Given the description of an element on the screen output the (x, y) to click on. 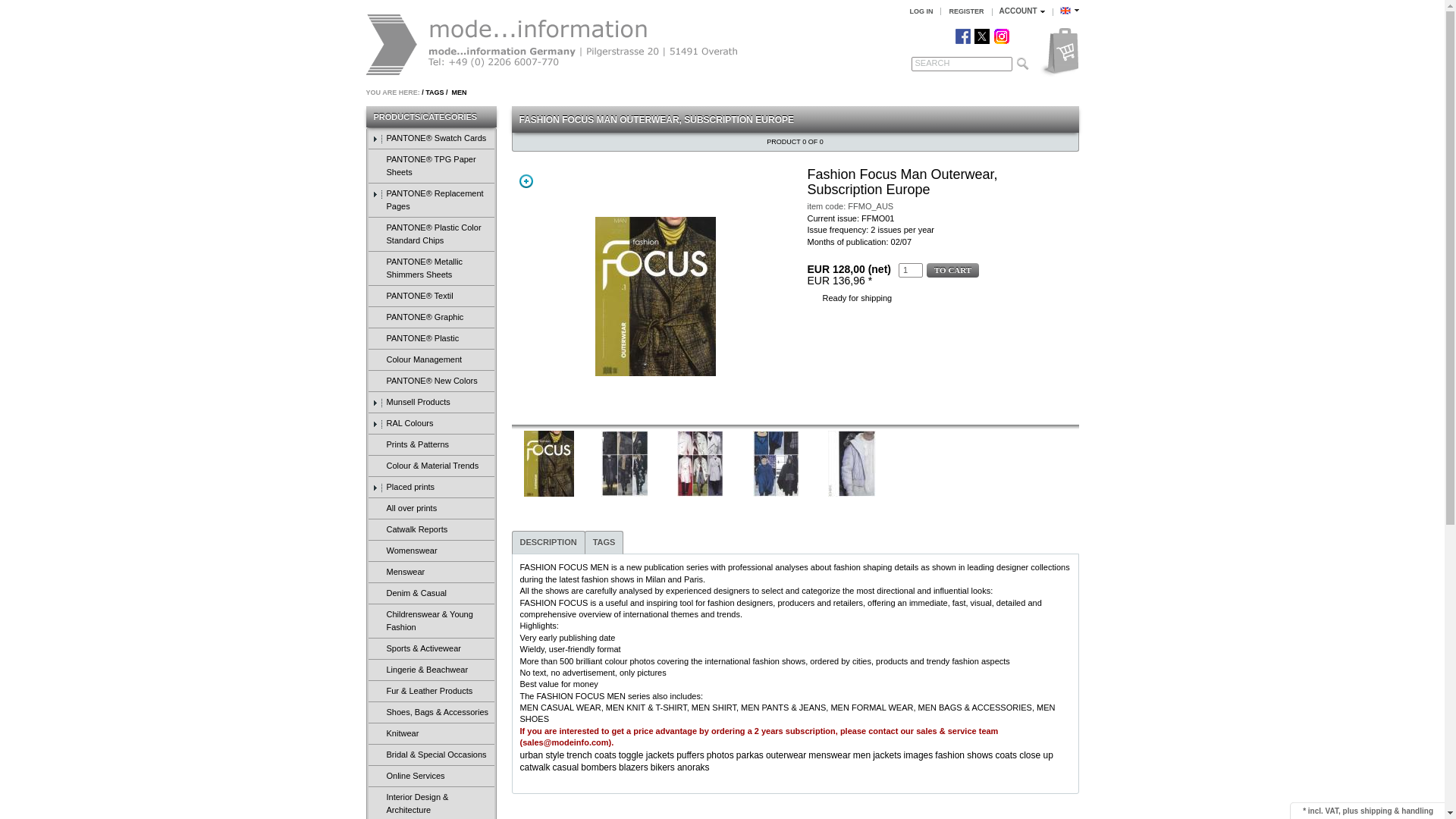
Twitter (982, 36)
MEN (458, 92)
RAL Colours (431, 423)
Tags (434, 92)
1 (910, 269)
Register (966, 11)
ENGLISH (1068, 10)
REGISTER (966, 11)
Facebook (963, 36)
ACCOUNT (1021, 10)
